Given the description of an element on the screen output the (x, y) to click on. 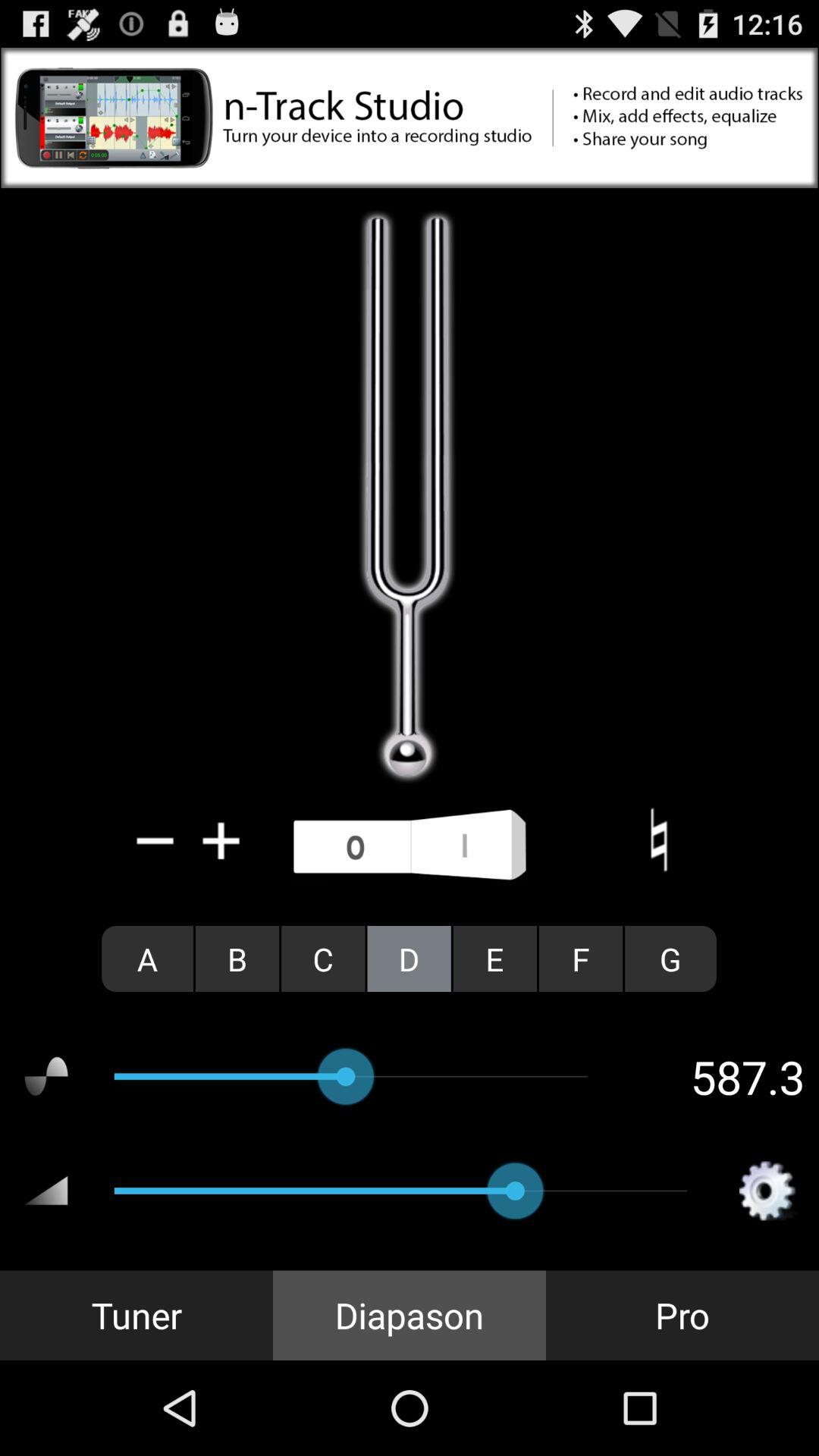
flip until 587.3 app (718, 1076)
